Given the description of an element on the screen output the (x, y) to click on. 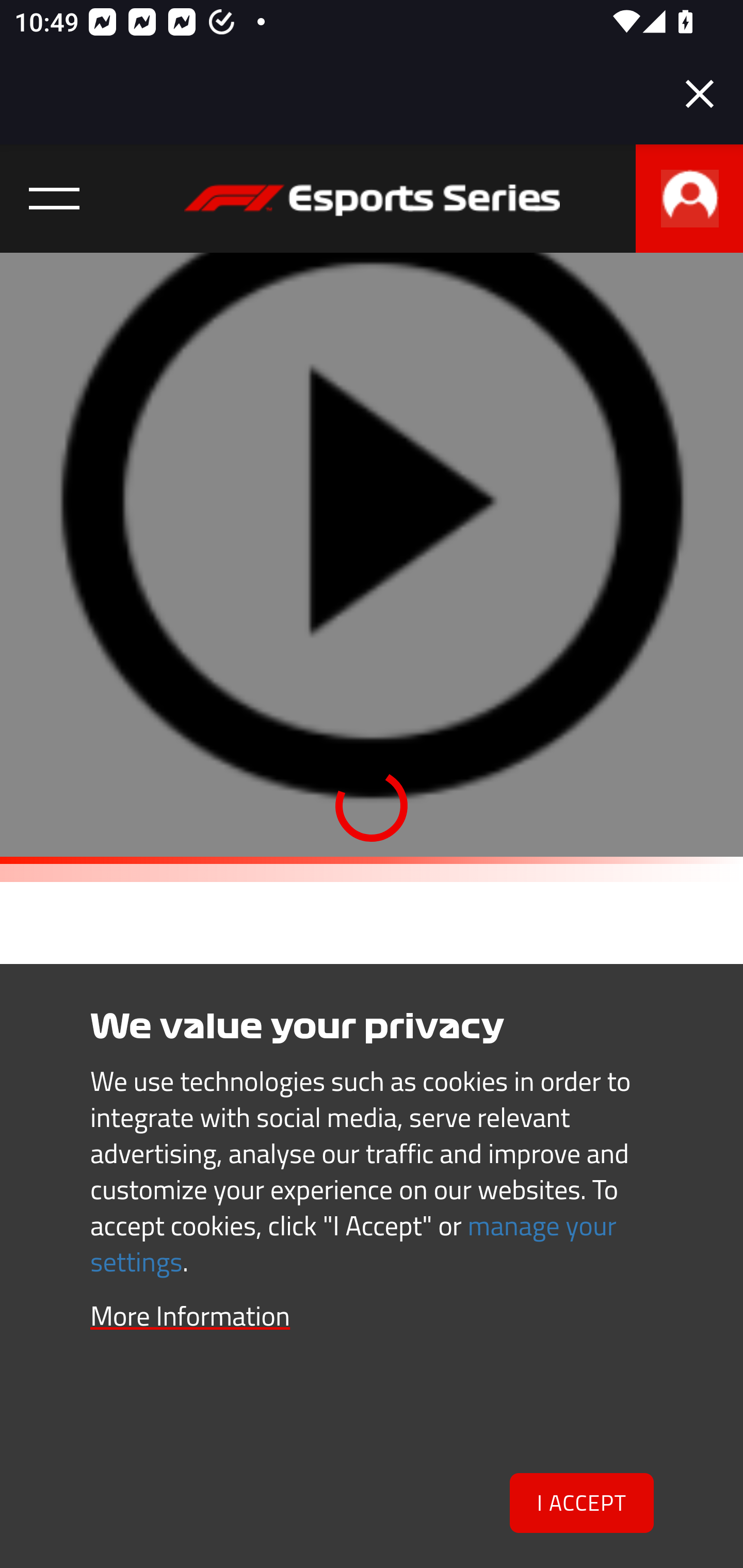
Close (699, 93)
Main menu (54, 199)
Profile (689, 199)
Homepage (371, 208)
manage your settings (353, 1243)
More Information (190, 1315)
I ACCEPT (581, 1503)
